Given the description of an element on the screen output the (x, y) to click on. 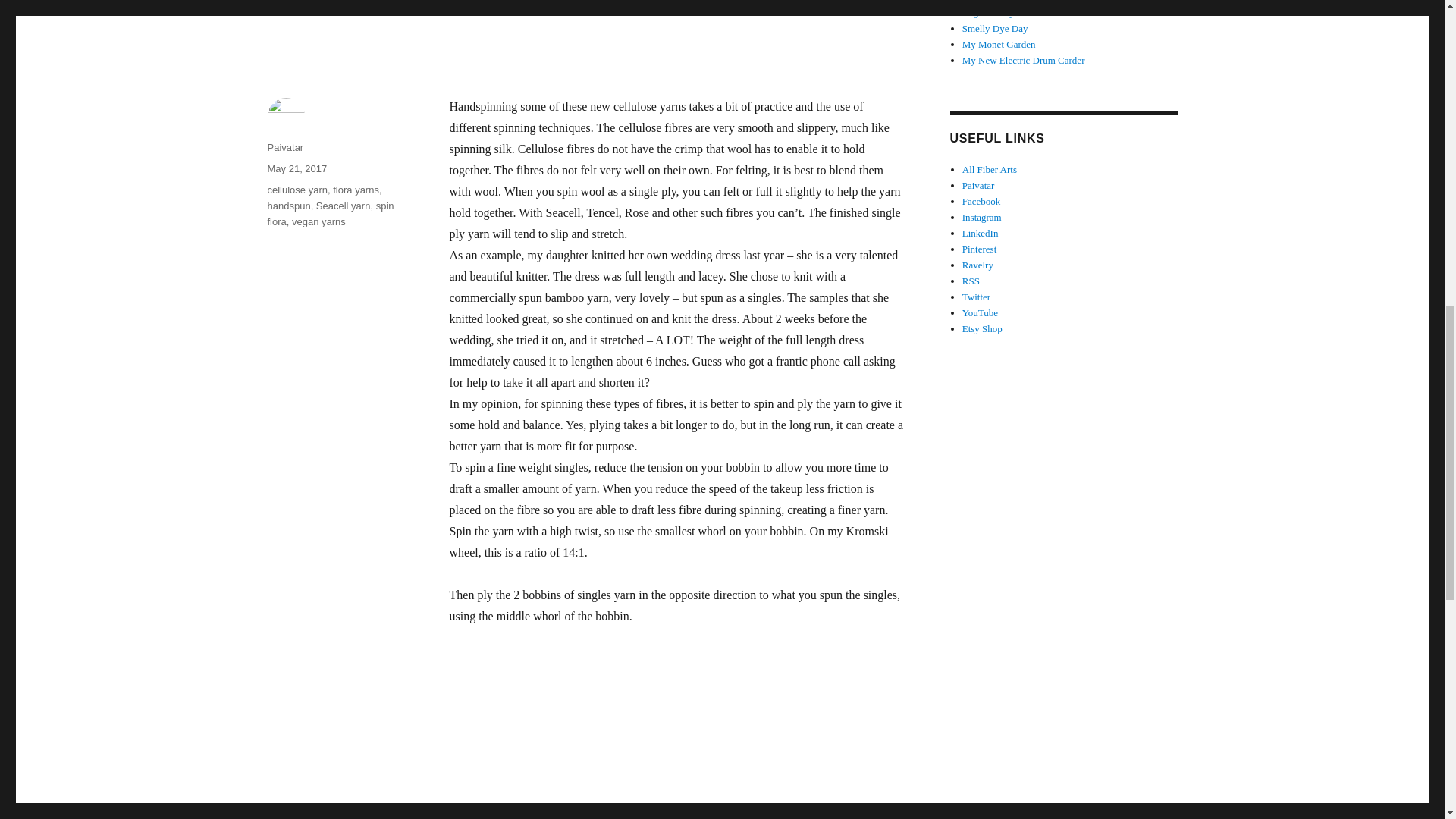
Paivatar (284, 147)
spin flora (329, 213)
vegan yarns (319, 221)
cellulose yarn (296, 189)
flora yarns (355, 189)
May 21, 2017 (296, 168)
handspun (288, 205)
Seacell yarn (343, 205)
